Given the description of an element on the screen output the (x, y) to click on. 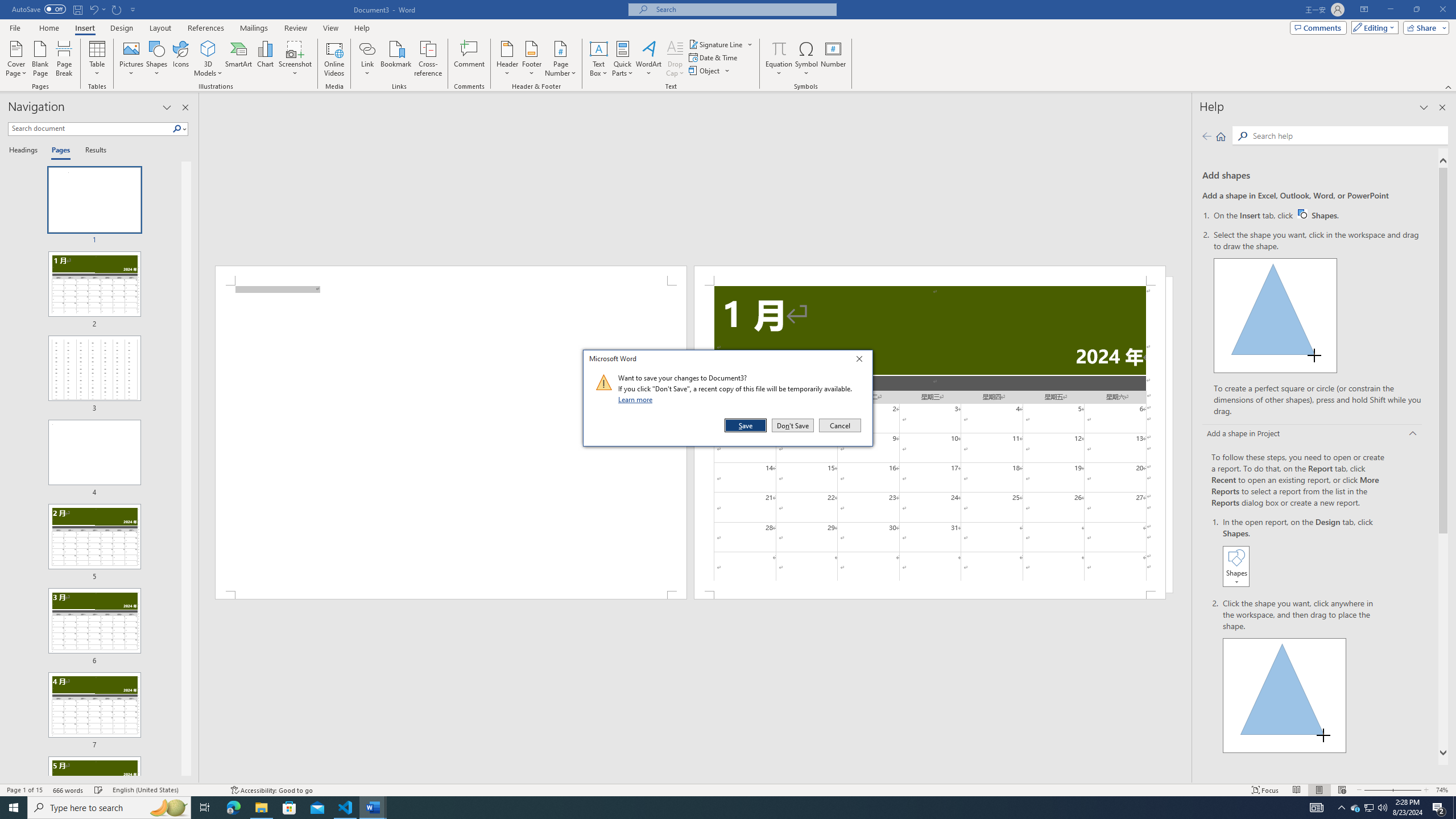
Equation (778, 48)
Q2790: 100% (1382, 807)
Show desktop (1454, 807)
Word W32 Shapes button icon (1302, 213)
Word Count 666 words (68, 790)
Drawing a shape (1284, 695)
Comment (469, 58)
Spelling and Grammar Check Checking (98, 790)
Don't Save (792, 425)
